Given the description of an element on the screen output the (x, y) to click on. 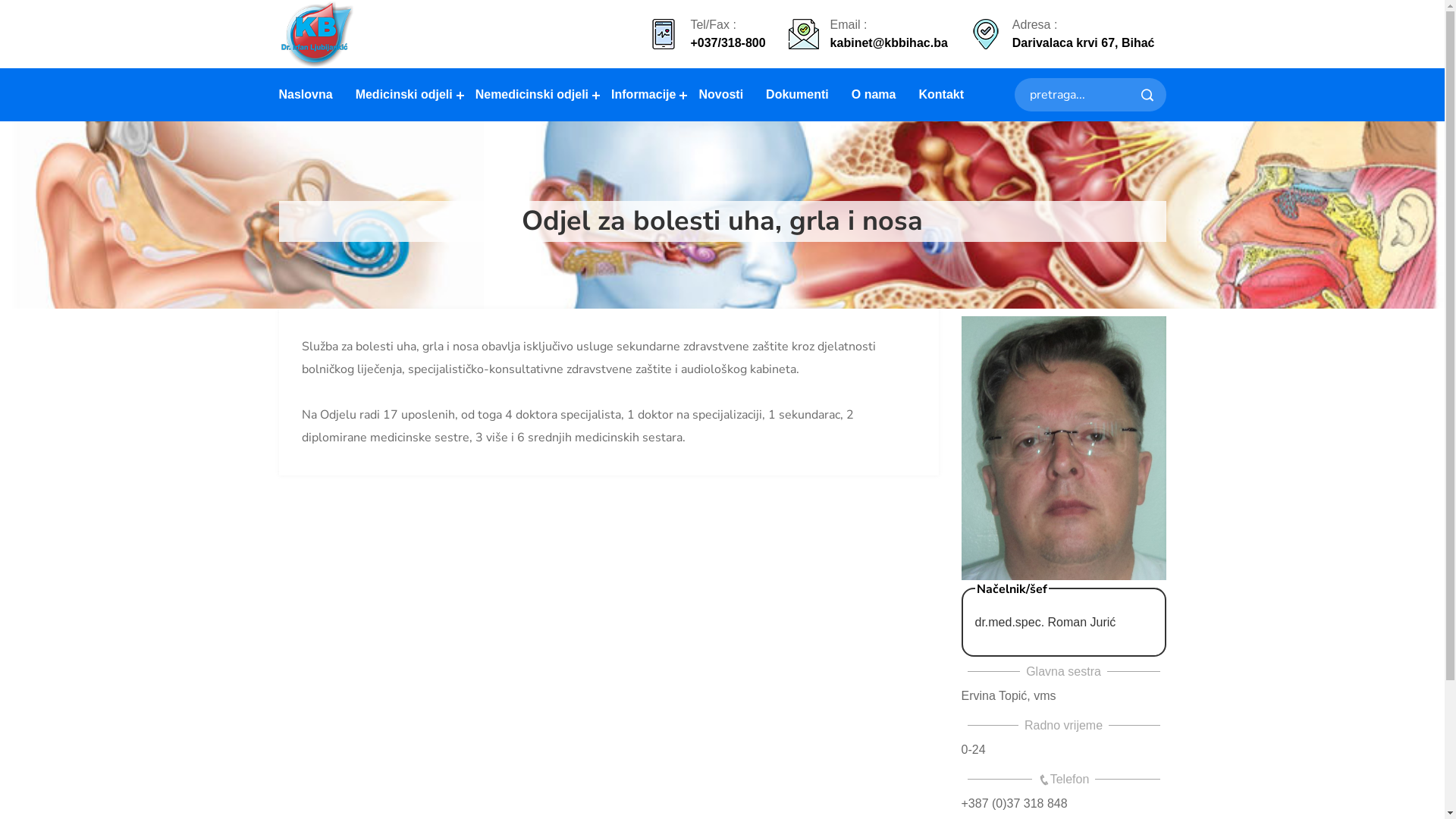
Kontakt Element type: text (940, 94)
O nama Element type: text (873, 94)
Naslovna Element type: text (309, 94)
Informacije Element type: text (643, 94)
Novosti Element type: text (720, 94)
Nemedicinski odjeli Element type: text (531, 94)
Medicinski odjeli Element type: text (404, 94)
Dokumenti Element type: text (797, 94)
